Given the description of an element on the screen output the (x, y) to click on. 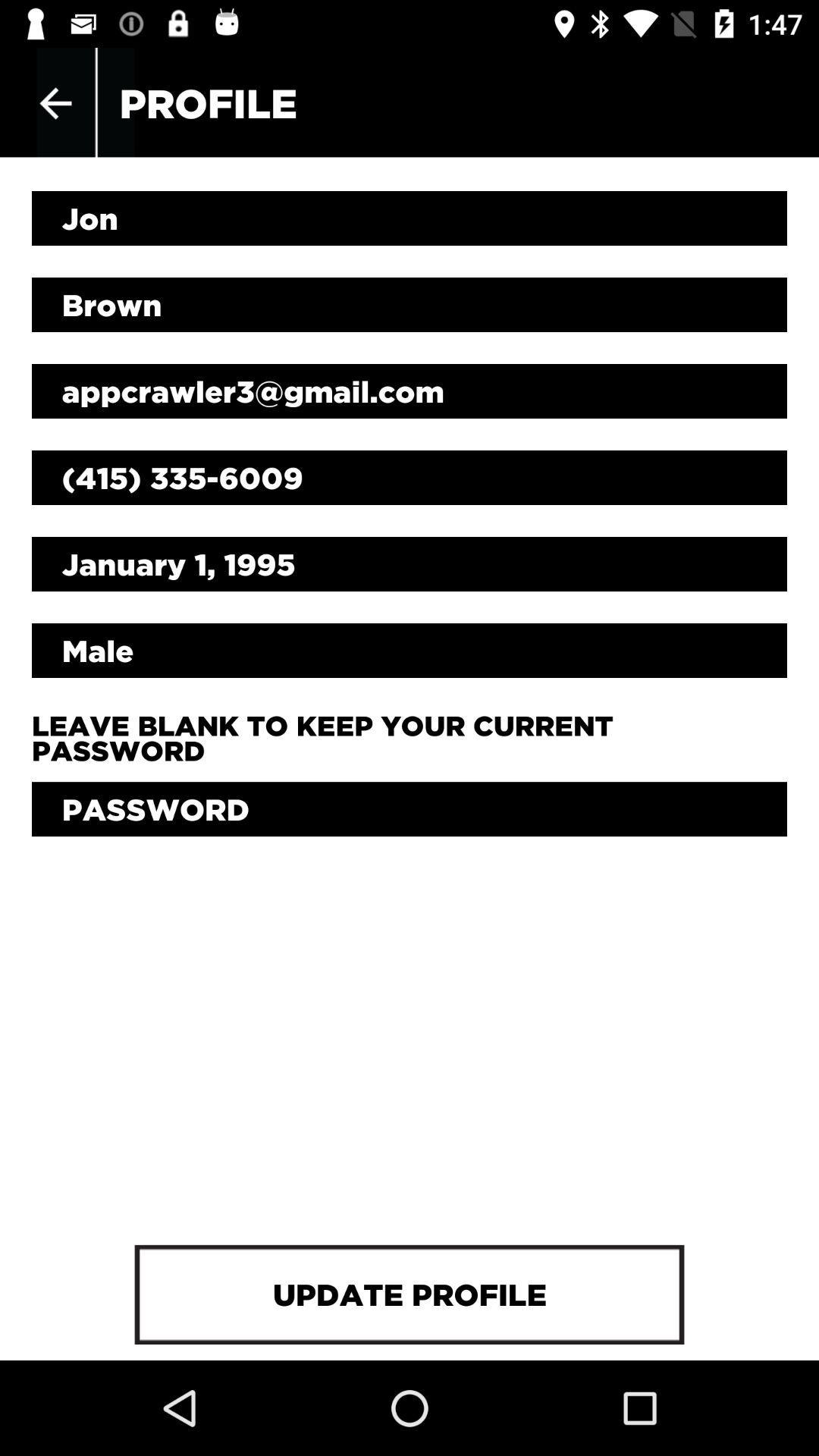
turn off the item below jon item (409, 304)
